Given the description of an element on the screen output the (x, y) to click on. 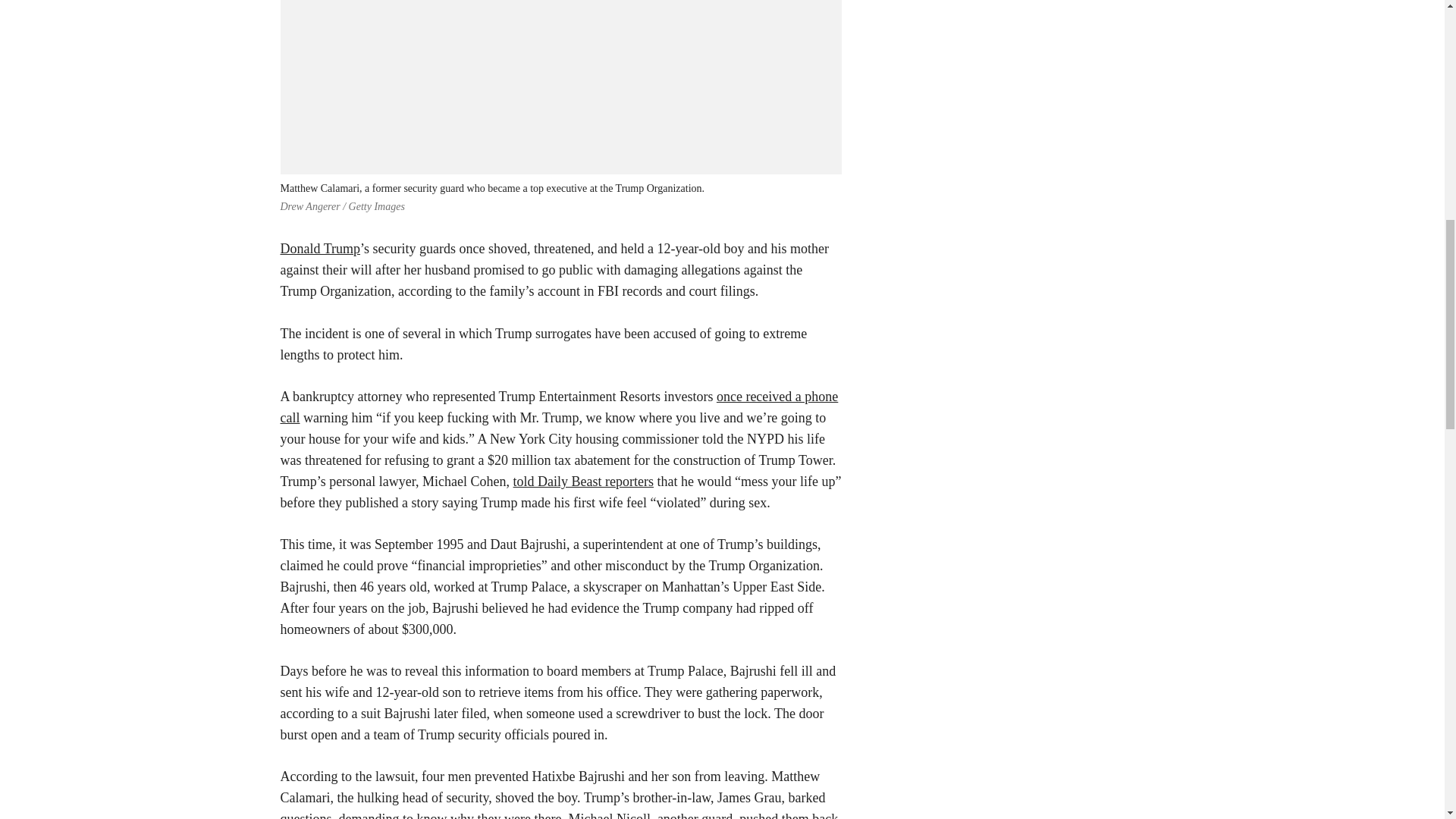
once received a phone call (559, 407)
Donald Trump (321, 248)
told Daily Beast reporters (583, 481)
